Given the description of an element on the screen output the (x, y) to click on. 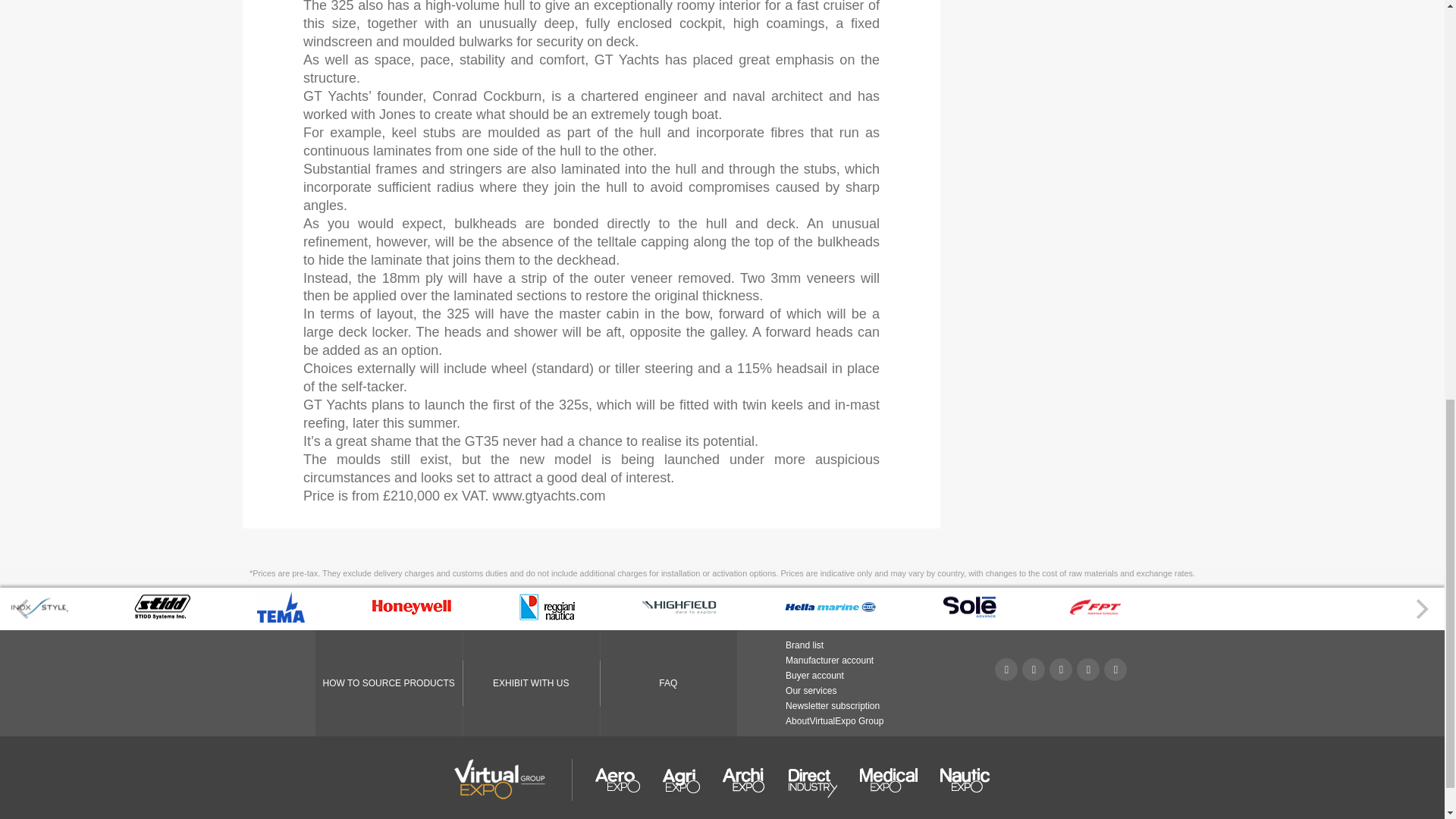
Inoxstyle (40, 615)
